Given the description of an element on the screen output the (x, y) to click on. 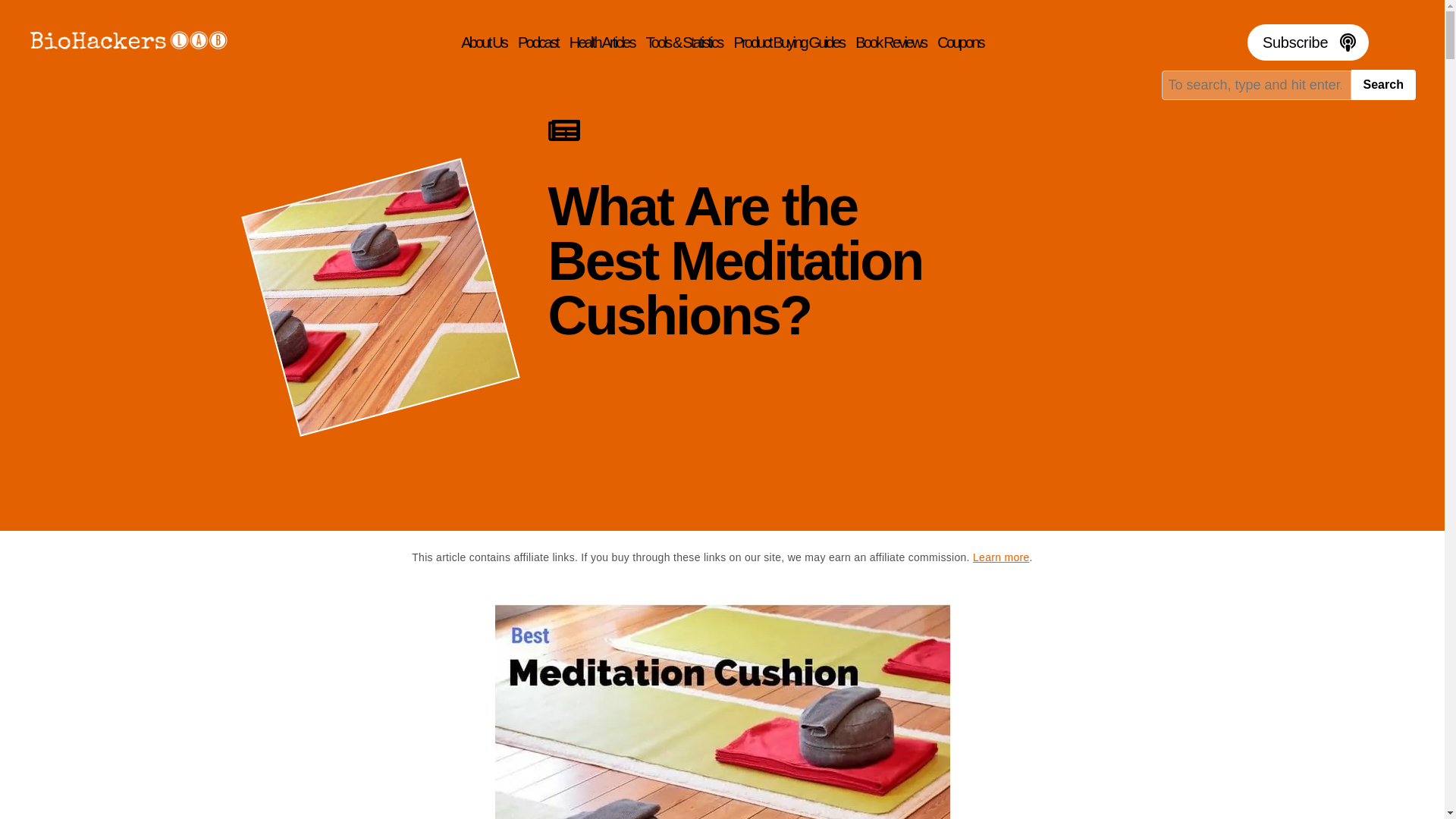
Health Articles (602, 42)
Podcast (537, 42)
Podcast (537, 42)
Subscribe (1307, 42)
Book Reviews (890, 42)
Search (1383, 84)
About Us (484, 42)
About Us (484, 42)
Product Buying Guides (788, 42)
Coupons (960, 42)
